Given the description of an element on the screen output the (x, y) to click on. 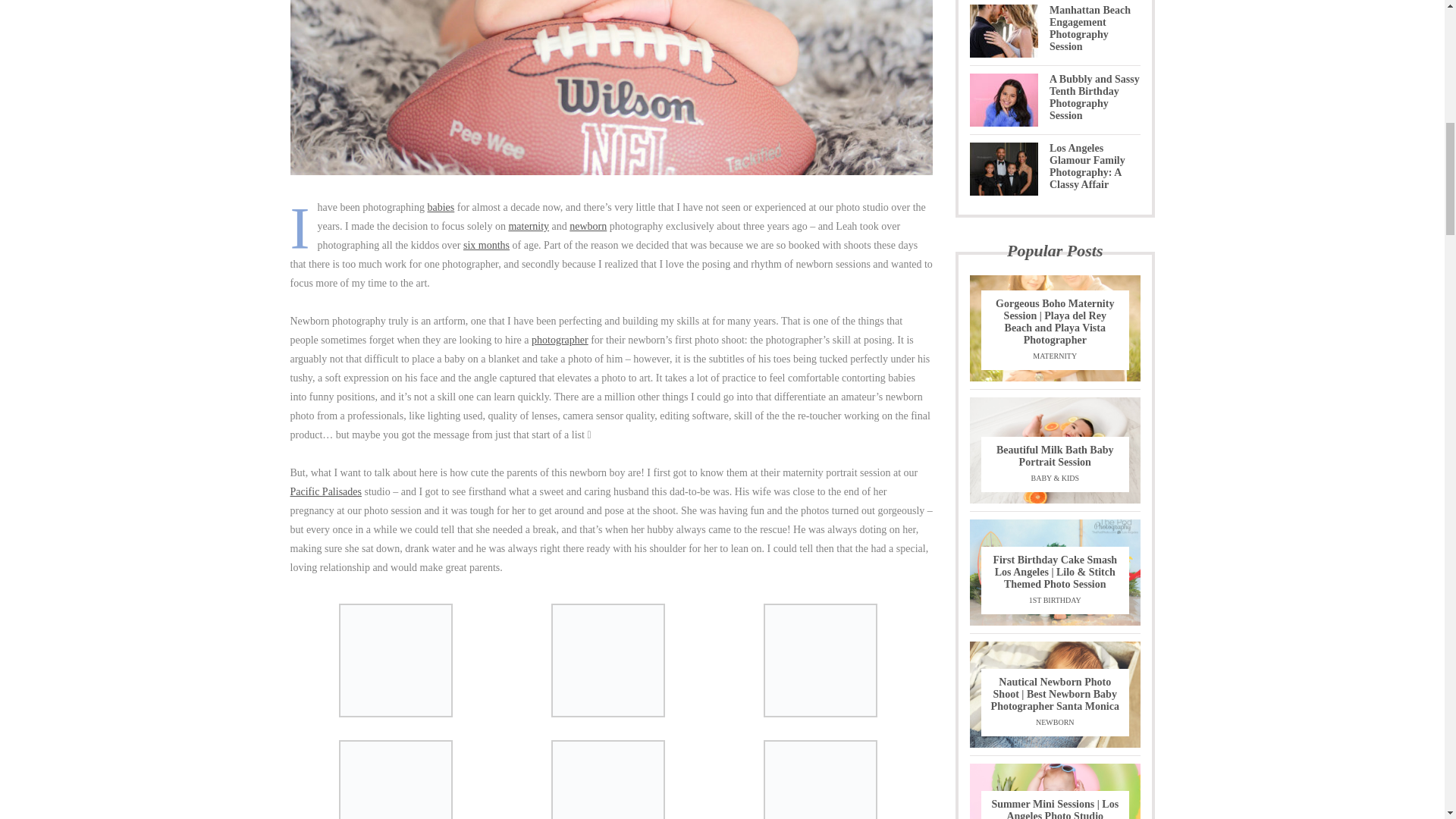
newborn (588, 225)
six months (486, 244)
babies (441, 206)
maternity (528, 225)
Pacific Palisades (325, 491)
photographer (559, 339)
